Given the description of an element on the screen output the (x, y) to click on. 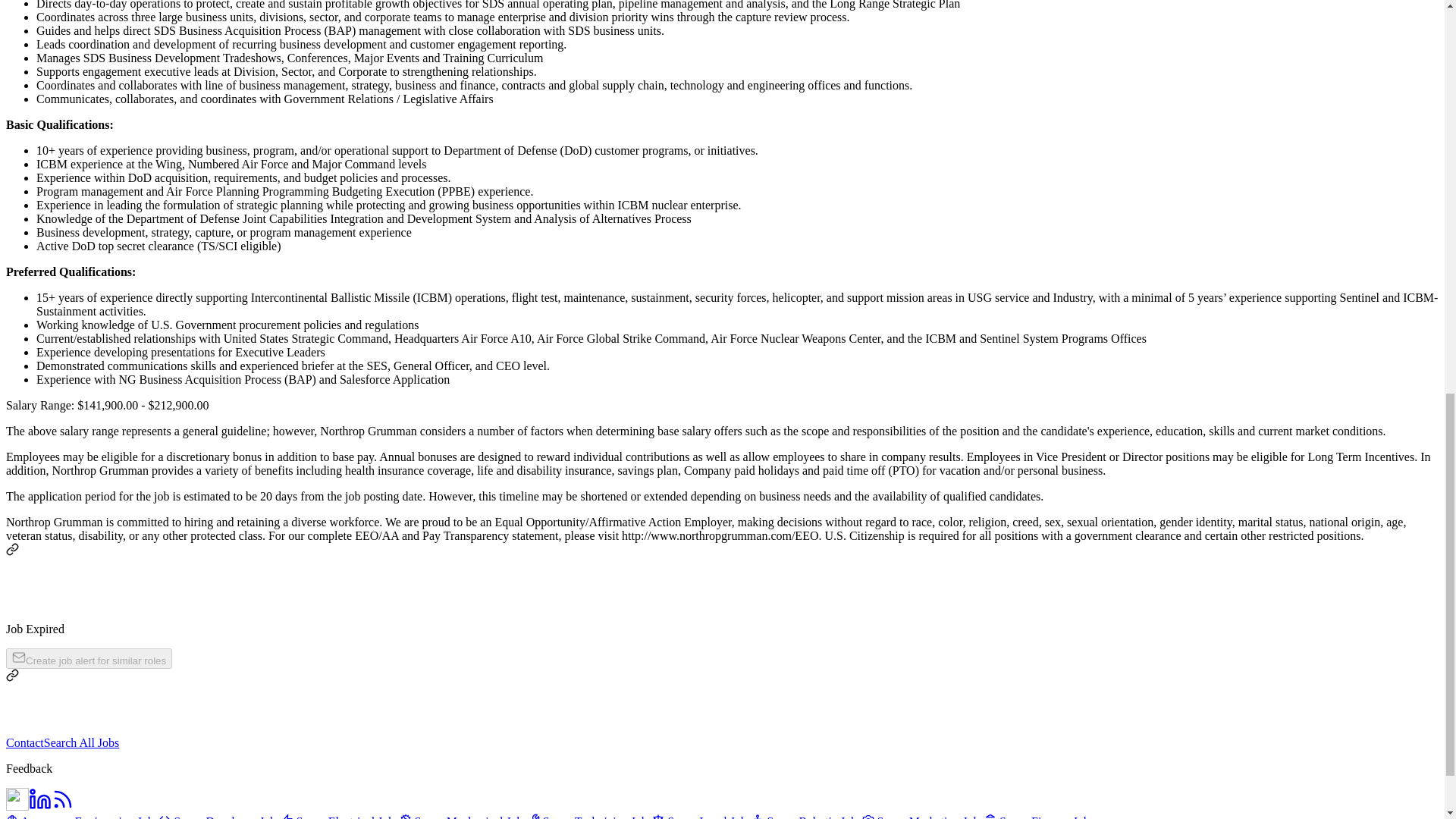
Space Legal Jobs (701, 816)
Space Marketing Jobs (922, 816)
Create job alert for similar roles (88, 657)
Space Finance Jobs (1039, 816)
Space Electrical Jobs (339, 816)
Contact (24, 741)
Search All Jobs (81, 741)
Space Robotic Jobs (806, 816)
Aerospace Engineering Jobs (81, 816)
Space Technician Jobs (589, 816)
Space Mechanical Jobs (462, 816)
Space Developer Jobs (219, 816)
